Given the description of an element on the screen output the (x, y) to click on. 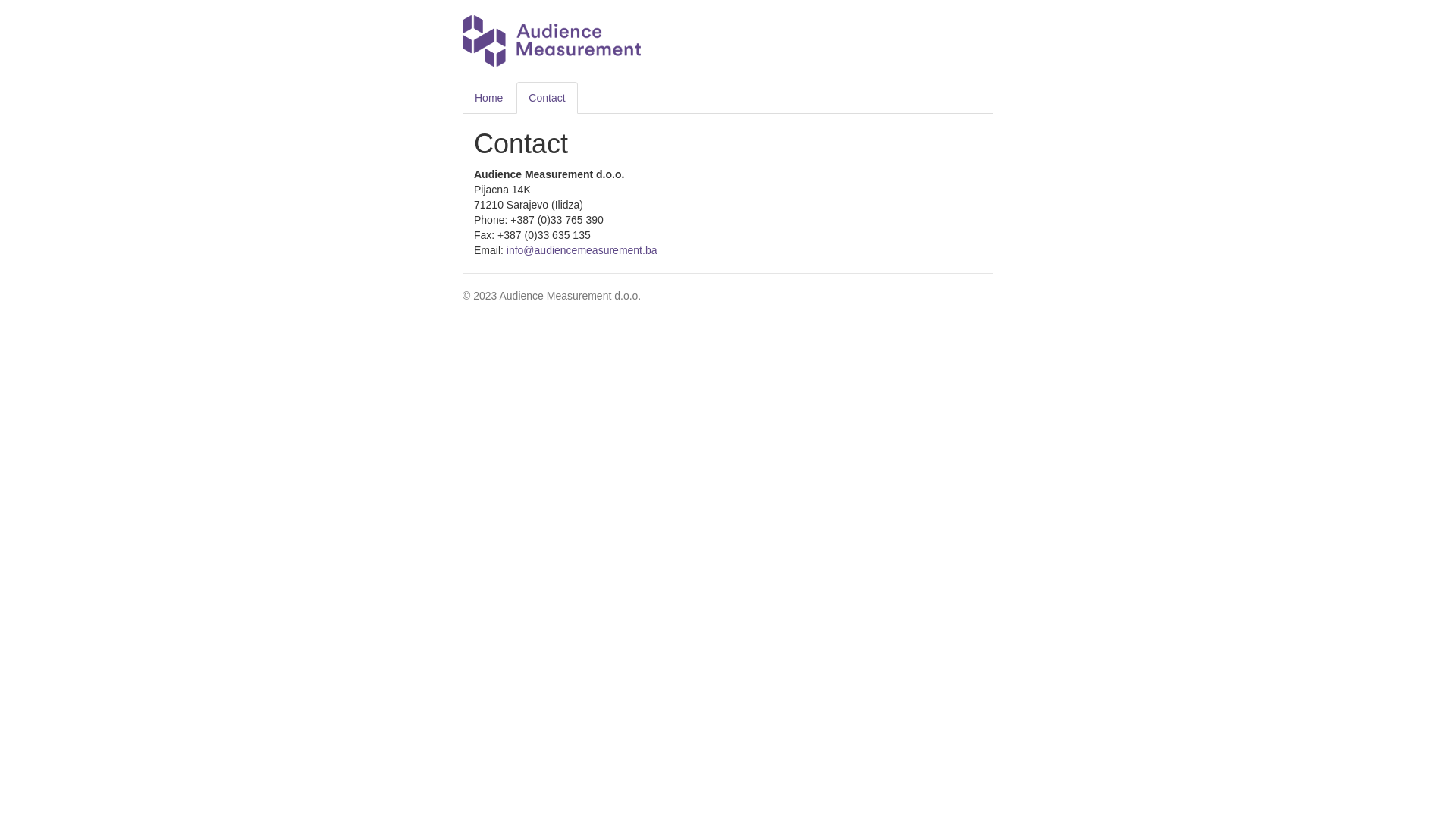
Home Element type: text (488, 97)
info@audiencemeasurement.ba Element type: text (581, 250)
Contact Element type: text (546, 97)
